Given the description of an element on the screen output the (x, y) to click on. 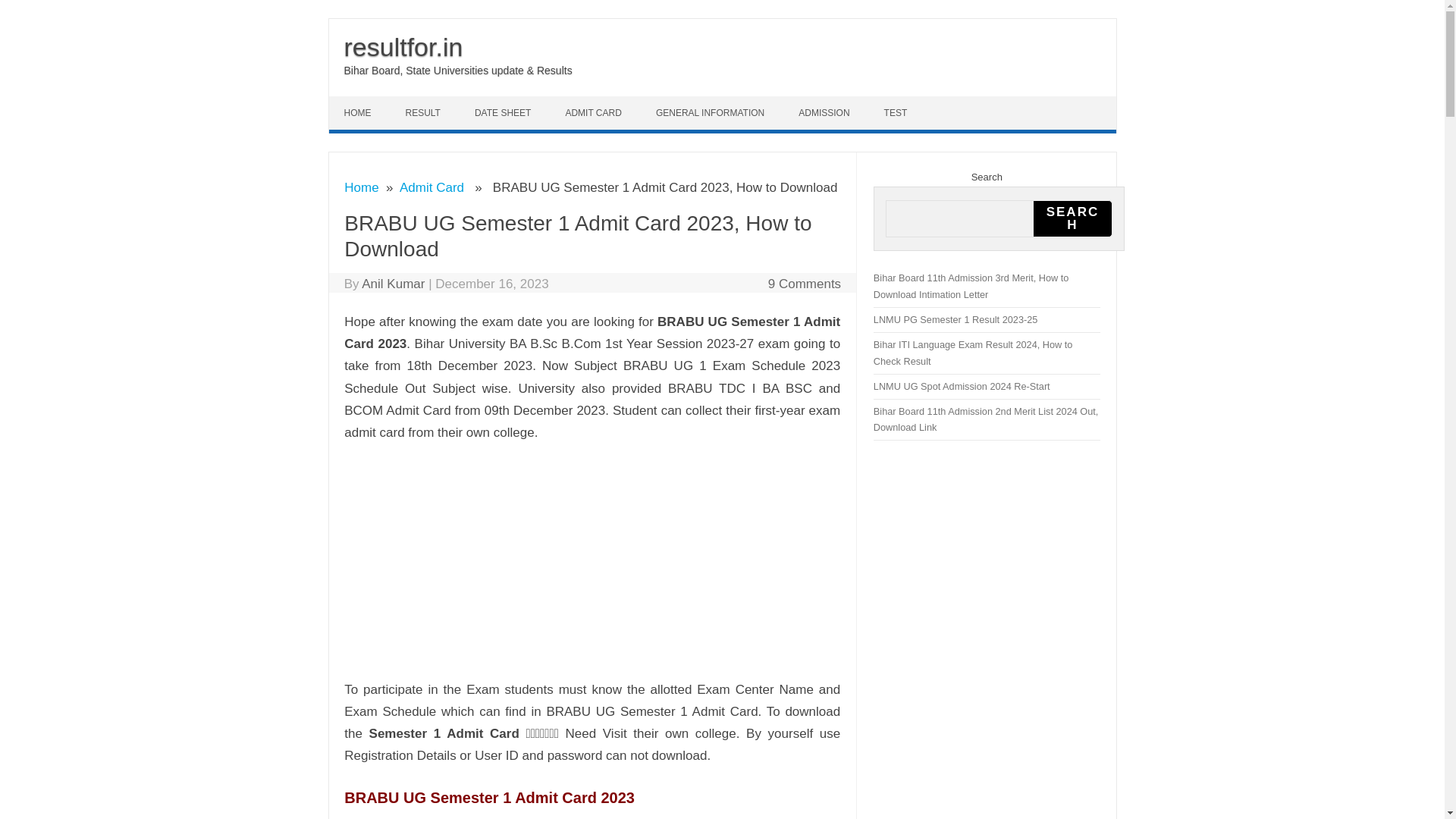
DATE SHEET (505, 112)
Advertisement (620, 561)
HOME (359, 112)
9 Comments (804, 283)
resultfor.in (403, 46)
resultfor.in (403, 46)
Admit Card (431, 187)
Home (360, 187)
